Given the description of an element on the screen output the (x, y) to click on. 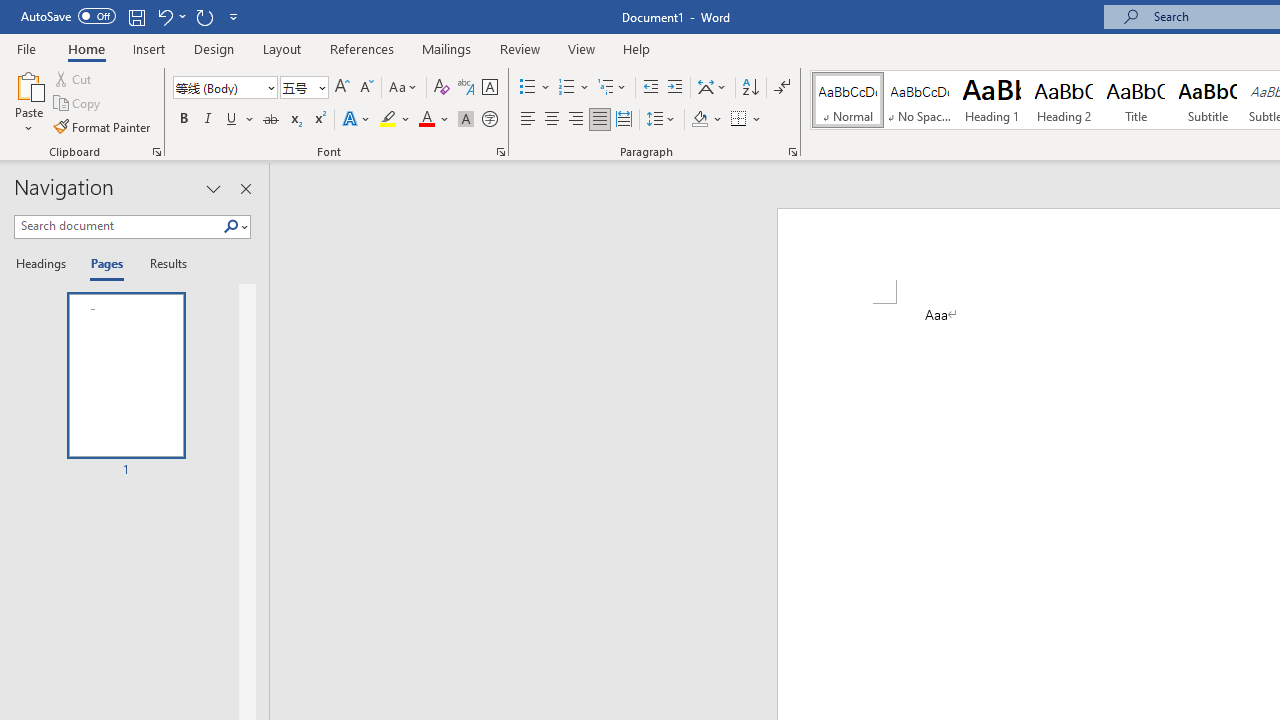
Heading 2 (1063, 100)
Subtitle (1208, 100)
